Given the description of an element on the screen output the (x, y) to click on. 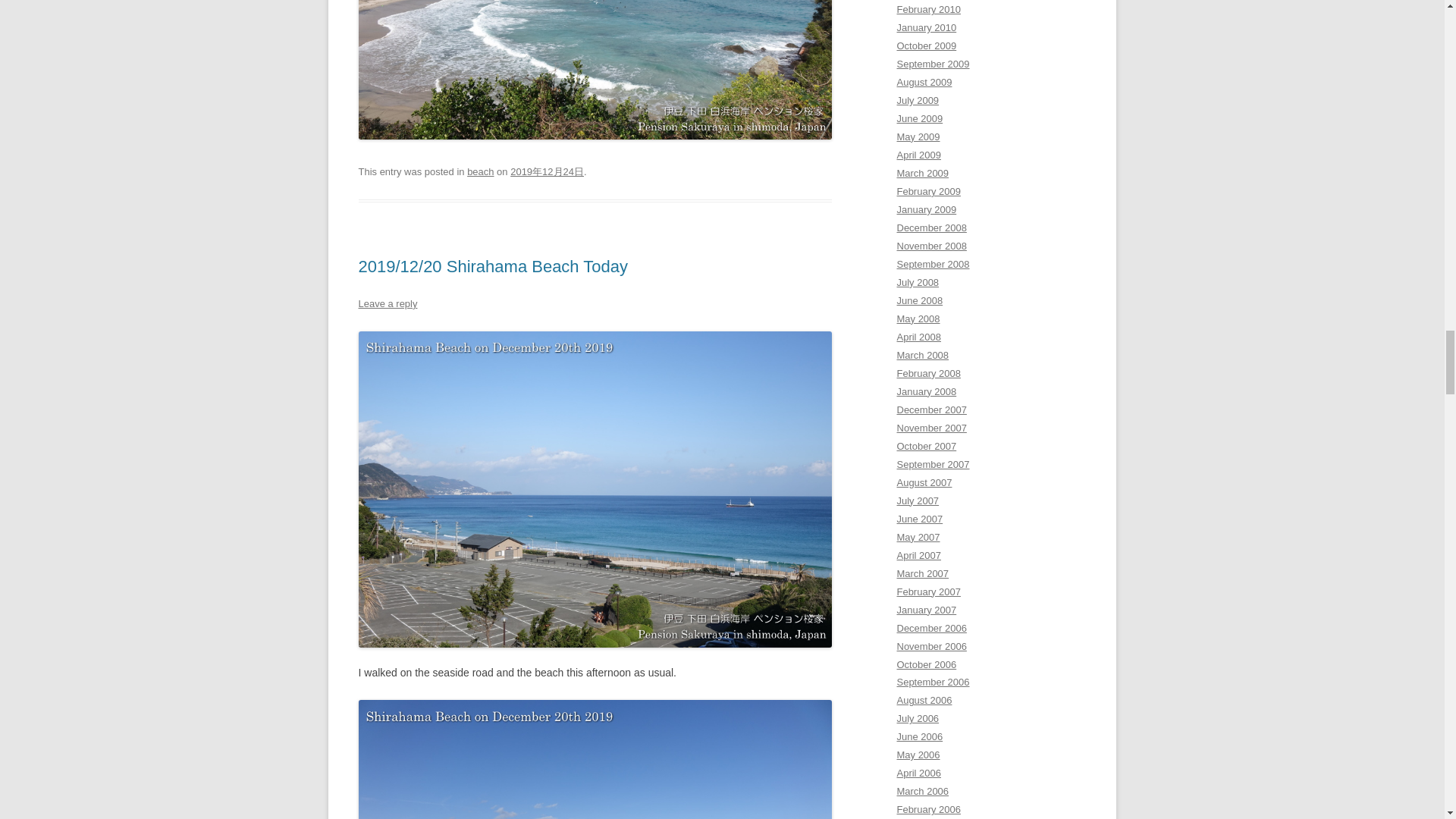
10:26 PM (547, 171)
beach (480, 171)
Leave a reply (387, 303)
